Given the description of an element on the screen output the (x, y) to click on. 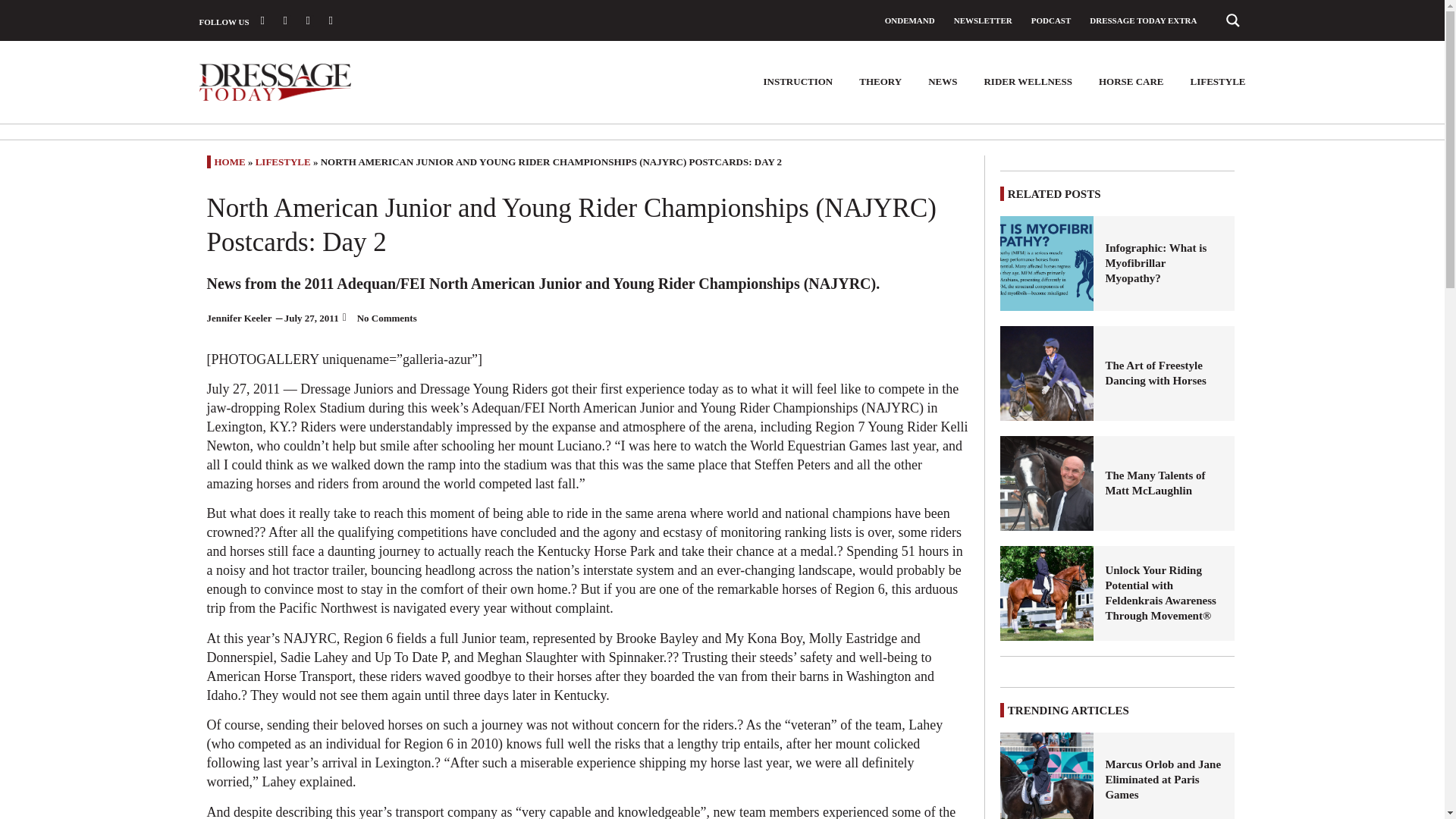
DRESSAGE TODAY EXTRA (1142, 20)
RIDER WELLNESS (1027, 81)
LIFESTYLE (1218, 81)
NEWS (942, 81)
Infographic: What is Myofibrillar Myopathy? (1164, 262)
The Many Talents of Matt McLaughlin (1164, 482)
ONDEMAND (909, 20)
PODCAST (1050, 20)
Marcus Orlob and Jane Eliminated at Paris Games (1164, 779)
The Art of Freestyle Dancing with Horses (1164, 372)
Infographic: What is Myofibrillar Myopathy? (1047, 263)
Marcus Orlob and Jane Eliminated at Paris Games (1047, 775)
The Many Talents of Matt McLaughlin (1047, 482)
HORSE CARE (1131, 81)
NEWSLETTER (982, 20)
